Given the description of an element on the screen output the (x, y) to click on. 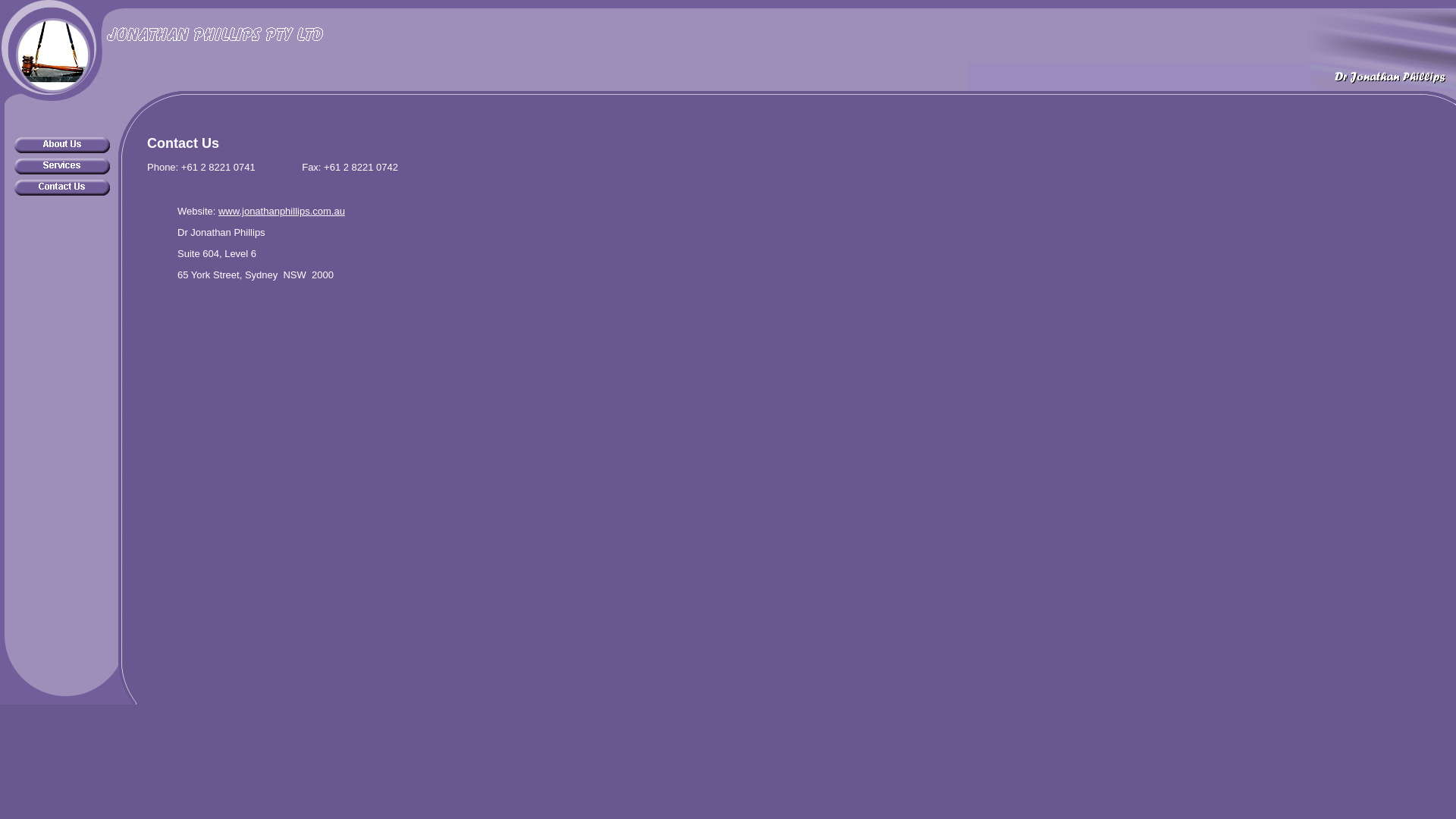
www.jonathanphillips.com.au Element type: text (281, 210)
Services Element type: hover (61, 166)
About Us Element type: hover (61, 145)
Jonathan Phillips Pty Ltd Element type: hover (272, 40)
Contact Us Element type: hover (61, 187)
